Given the description of an element on the screen output the (x, y) to click on. 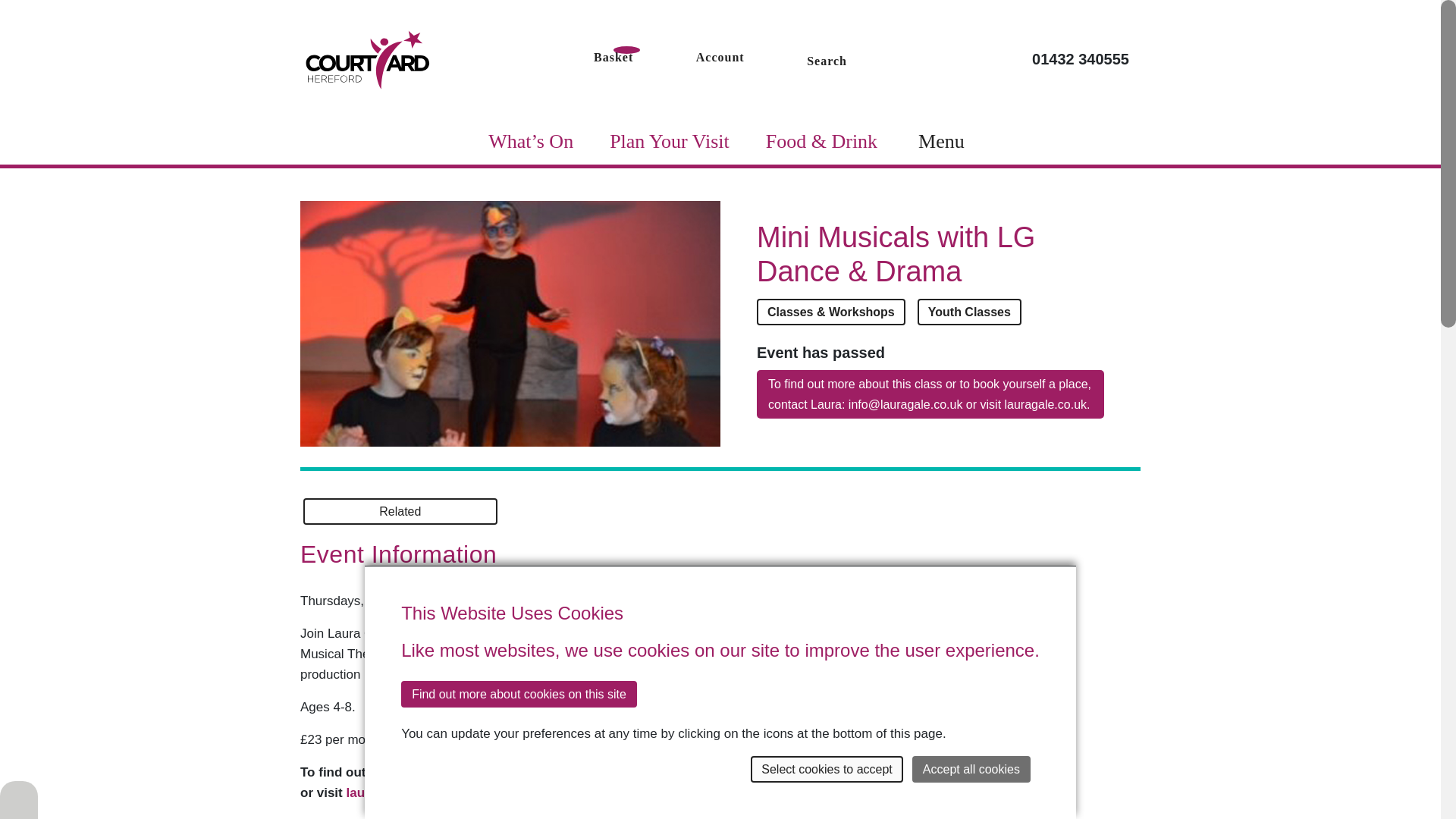
Log in (719, 56)
Youth Classes (969, 311)
Basket (613, 56)
Related (399, 510)
01432 340555 (1080, 58)
Search (826, 58)
Basket (613, 56)
Plan Your Visit (669, 141)
Select cookies to accept (826, 768)
lauragale.co.uk (392, 792)
Accept all cookies (971, 768)
Account (719, 56)
